Given the description of an element on the screen output the (x, y) to click on. 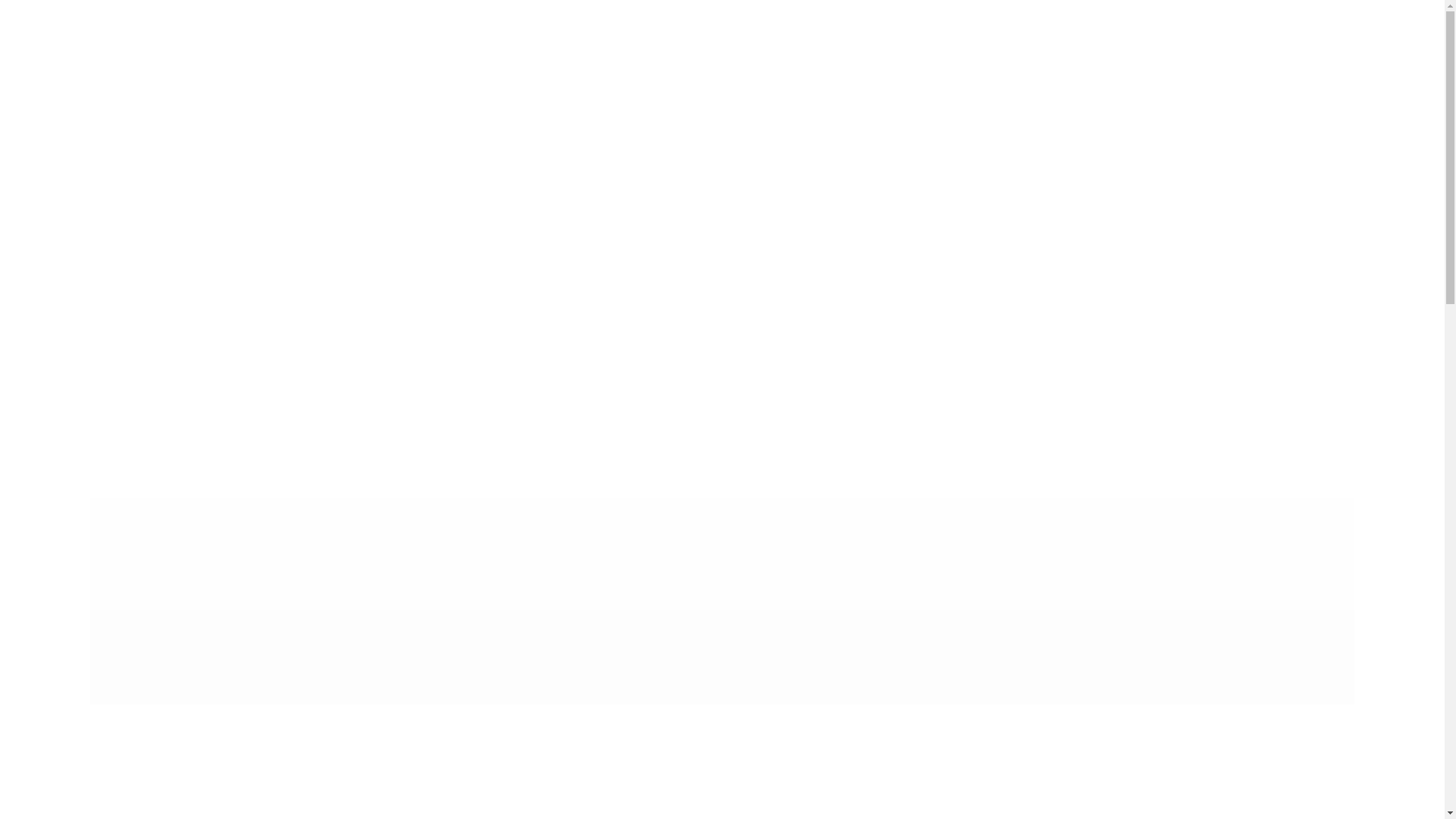
Follow The Godek Center for Personal Enhancement on X (172, 33)
SCHEDULE APPOINTMENT (168, 60)
